Given the description of an element on the screen output the (x, y) to click on. 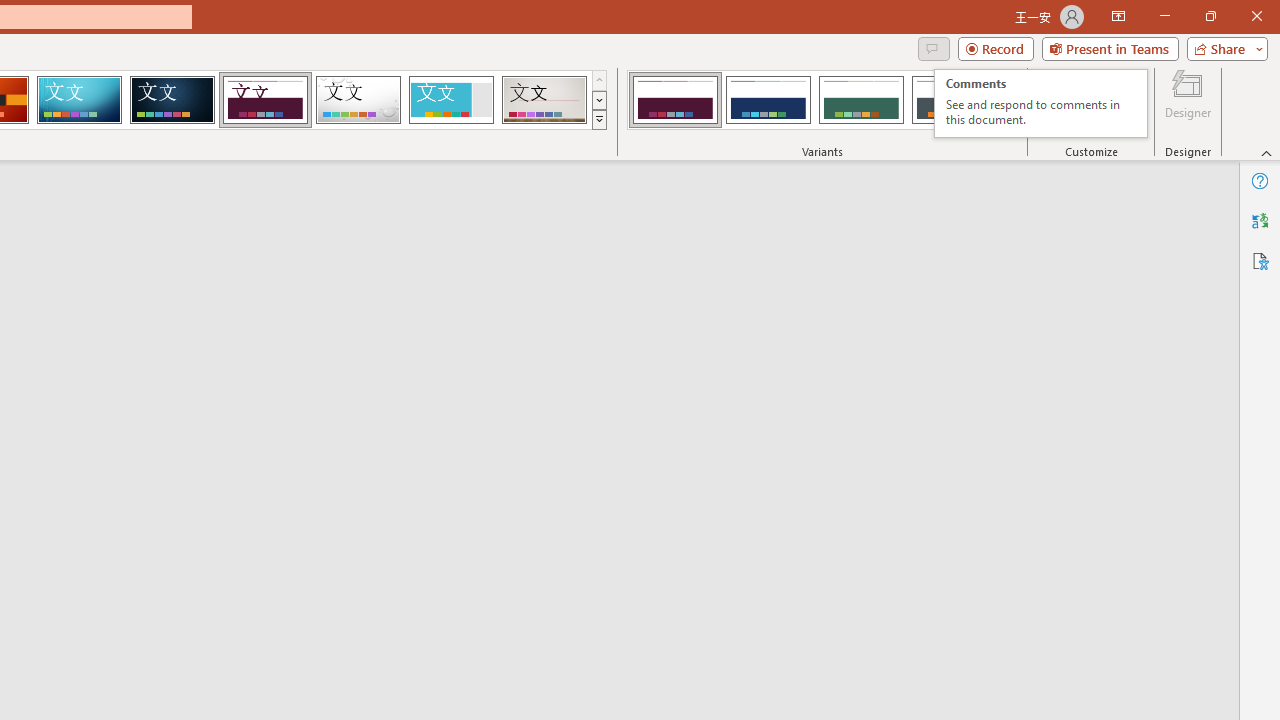
Dividend (265, 100)
Dividend Variant 2 (768, 100)
Slide Size (1056, 102)
Dividend Variant 4 (953, 100)
